Given the description of an element on the screen output the (x, y) to click on. 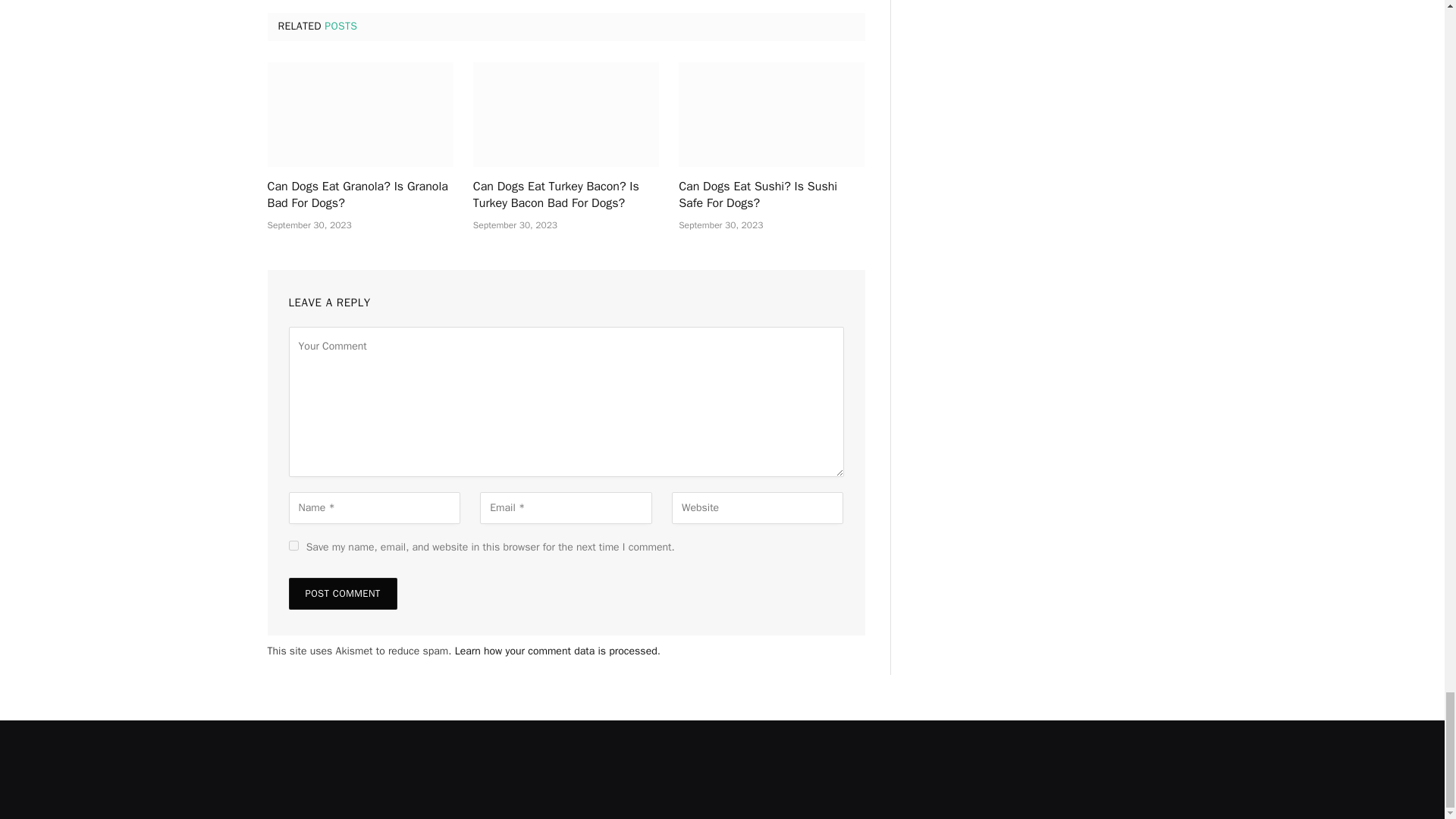
Post Comment (342, 593)
yes (293, 545)
